Given the description of an element on the screen output the (x, y) to click on. 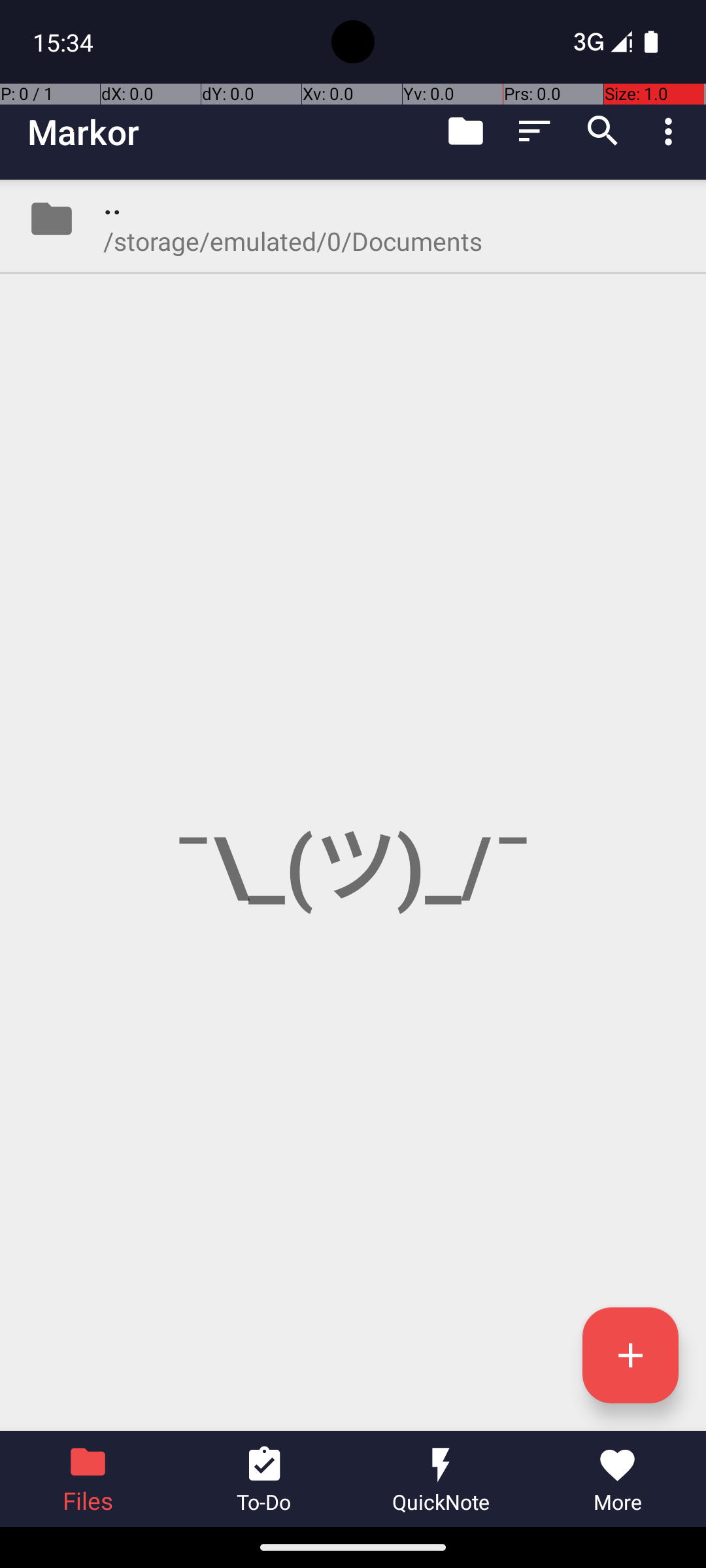
¯\_(ツ)_/¯ Element type: android.widget.TextView (353, 804)
